Given the description of an element on the screen output the (x, y) to click on. 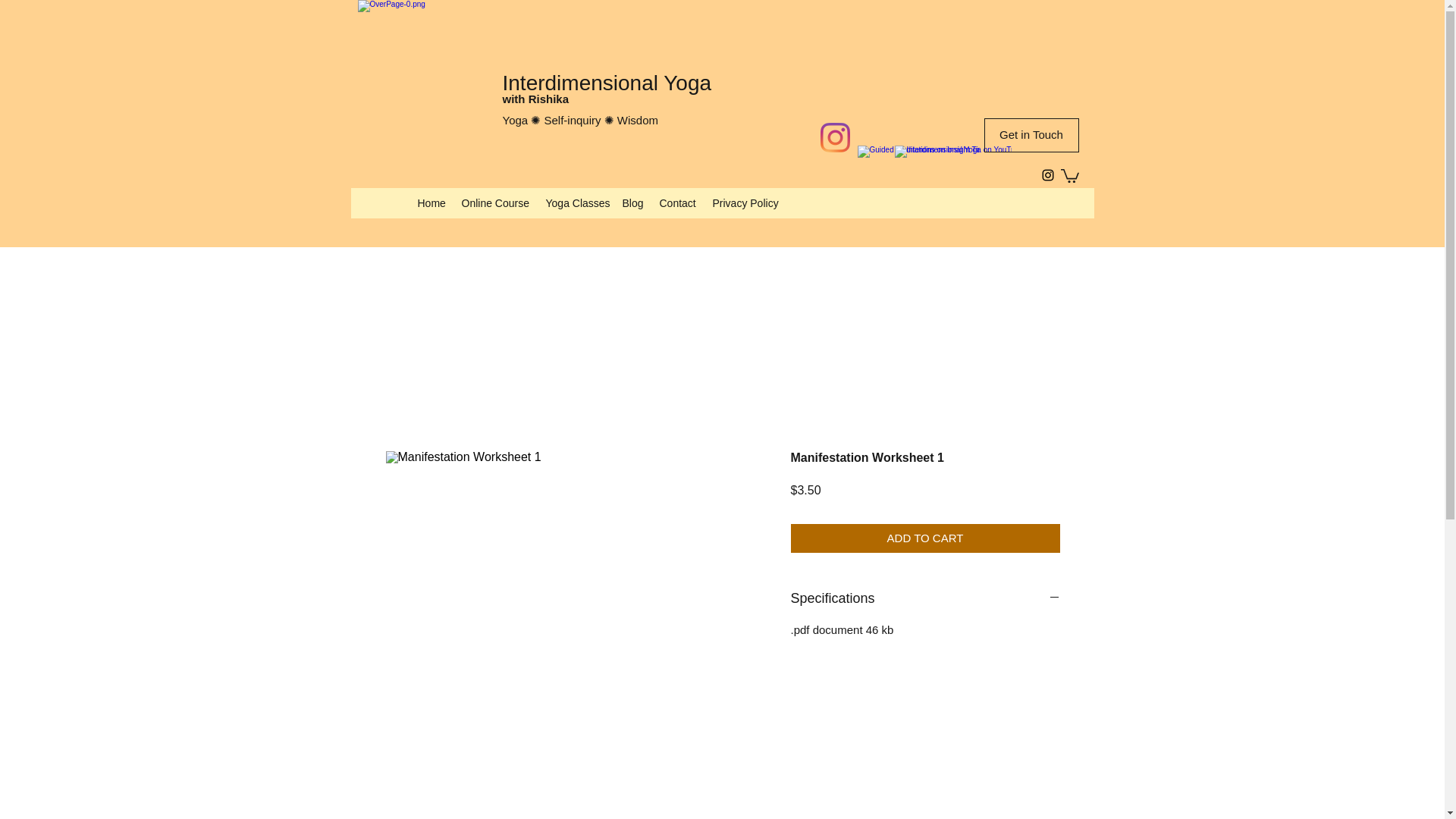
Yoga Classes (576, 202)
ADD TO CART (924, 538)
Home (430, 202)
Specifications (924, 598)
Contact (678, 202)
Online Course (494, 202)
Privacy Policy (742, 202)
Blog (632, 202)
Get in Touch (1031, 134)
